Given the description of an element on the screen output the (x, y) to click on. 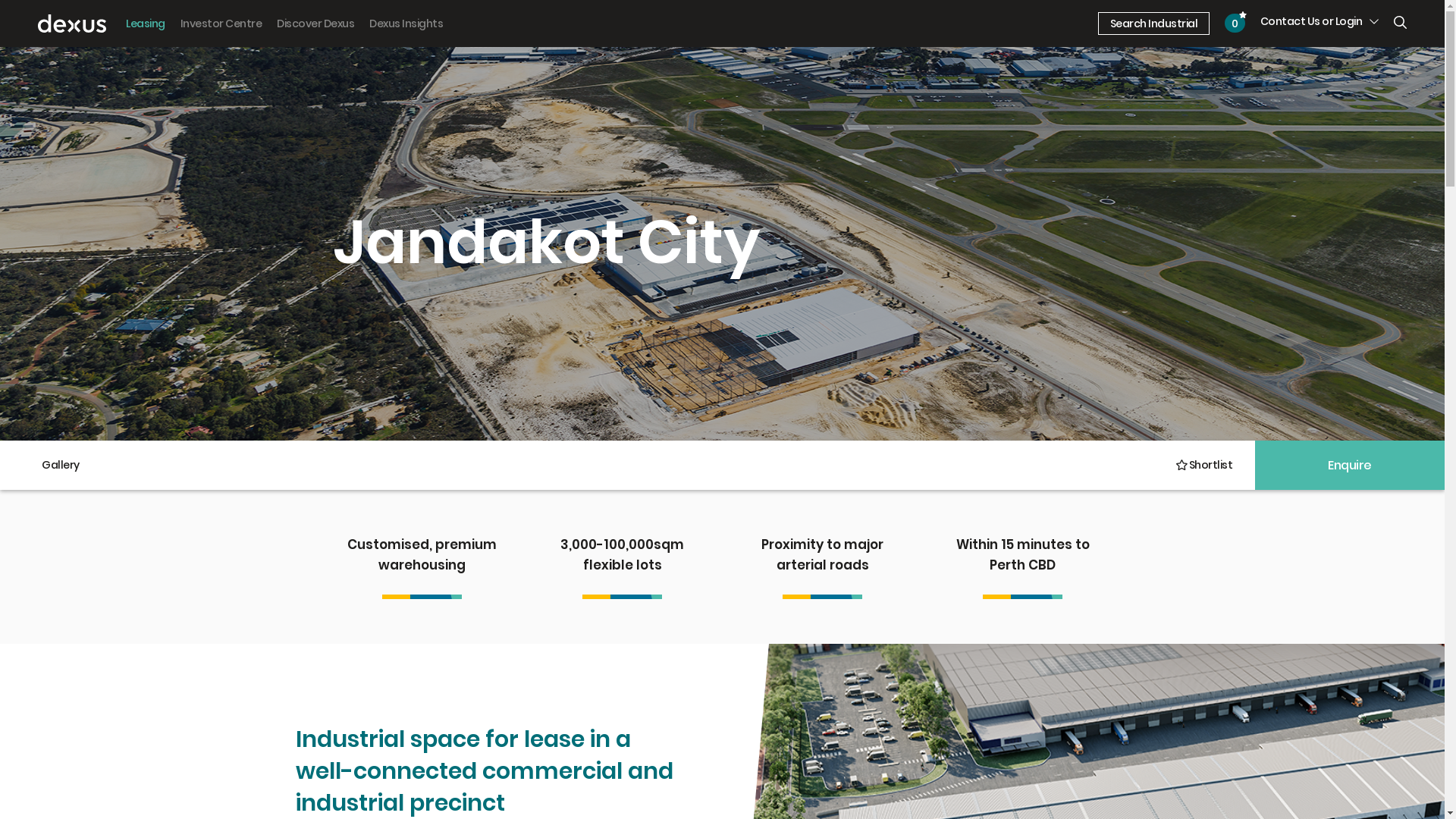
Enquire Element type: text (1349, 464)
Gallery Element type: text (60, 464)
Dexus Insights Element type: text (405, 23)
0 Element type: text (1234, 22)
Discover Dexus Element type: text (315, 23)
Shortlist Element type: text (1202, 464)
Investor Centre Element type: text (220, 23)
Leasing Element type: text (145, 23)
Search Industrial Element type: text (1153, 23)
Contact Us or Login Element type: text (1319, 21)
